Given the description of an element on the screen output the (x, y) to click on. 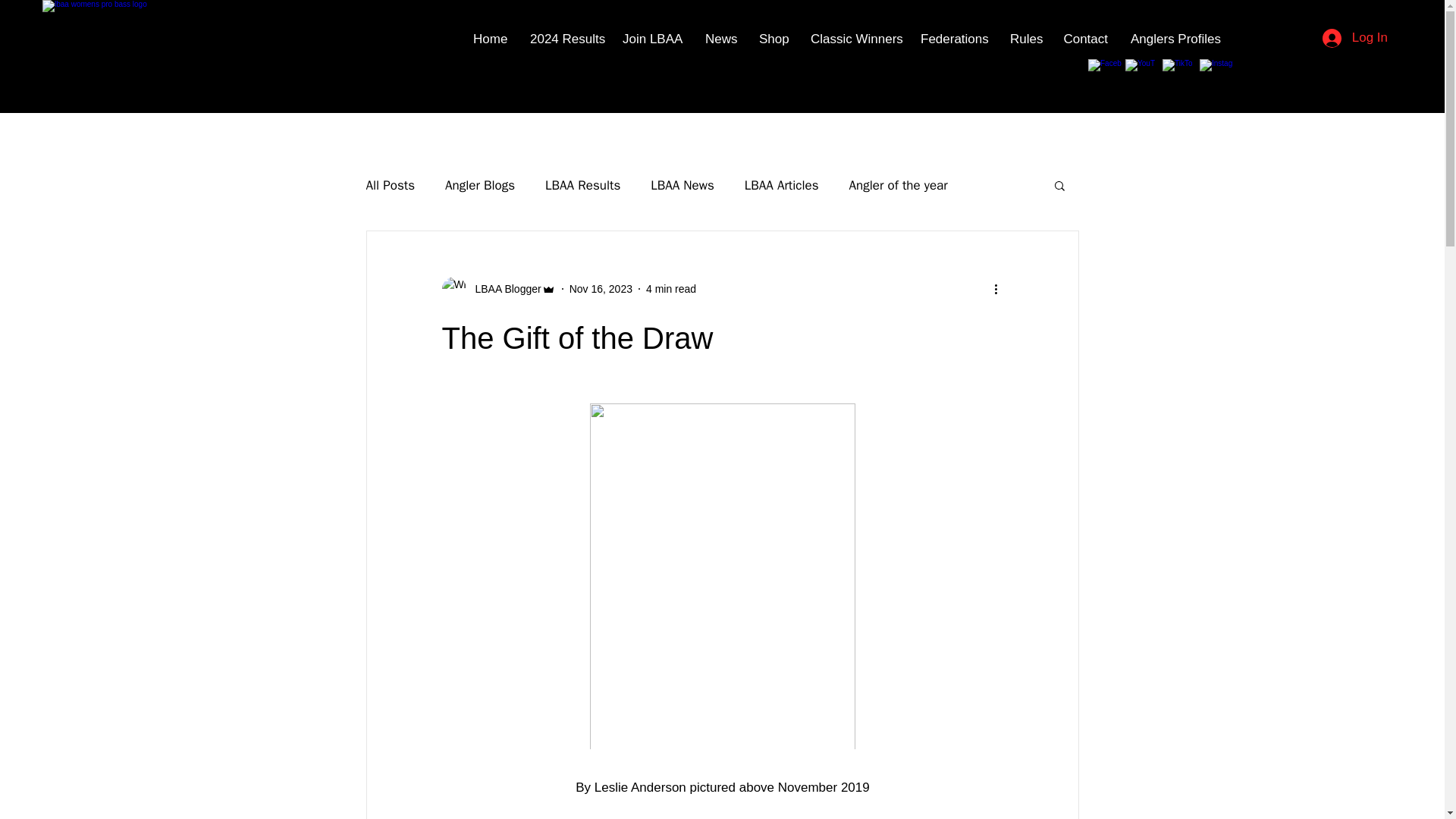
Angler of the year (897, 184)
Anglers Profiles (1174, 39)
All Posts (389, 184)
LBAA Results (582, 184)
Untitled design.jpg (73, 39)
Contact (1085, 39)
Federations (953, 39)
Classic Winners (853, 39)
Rules (1024, 39)
Angler Blogs (480, 184)
